Given the description of an element on the screen output the (x, y) to click on. 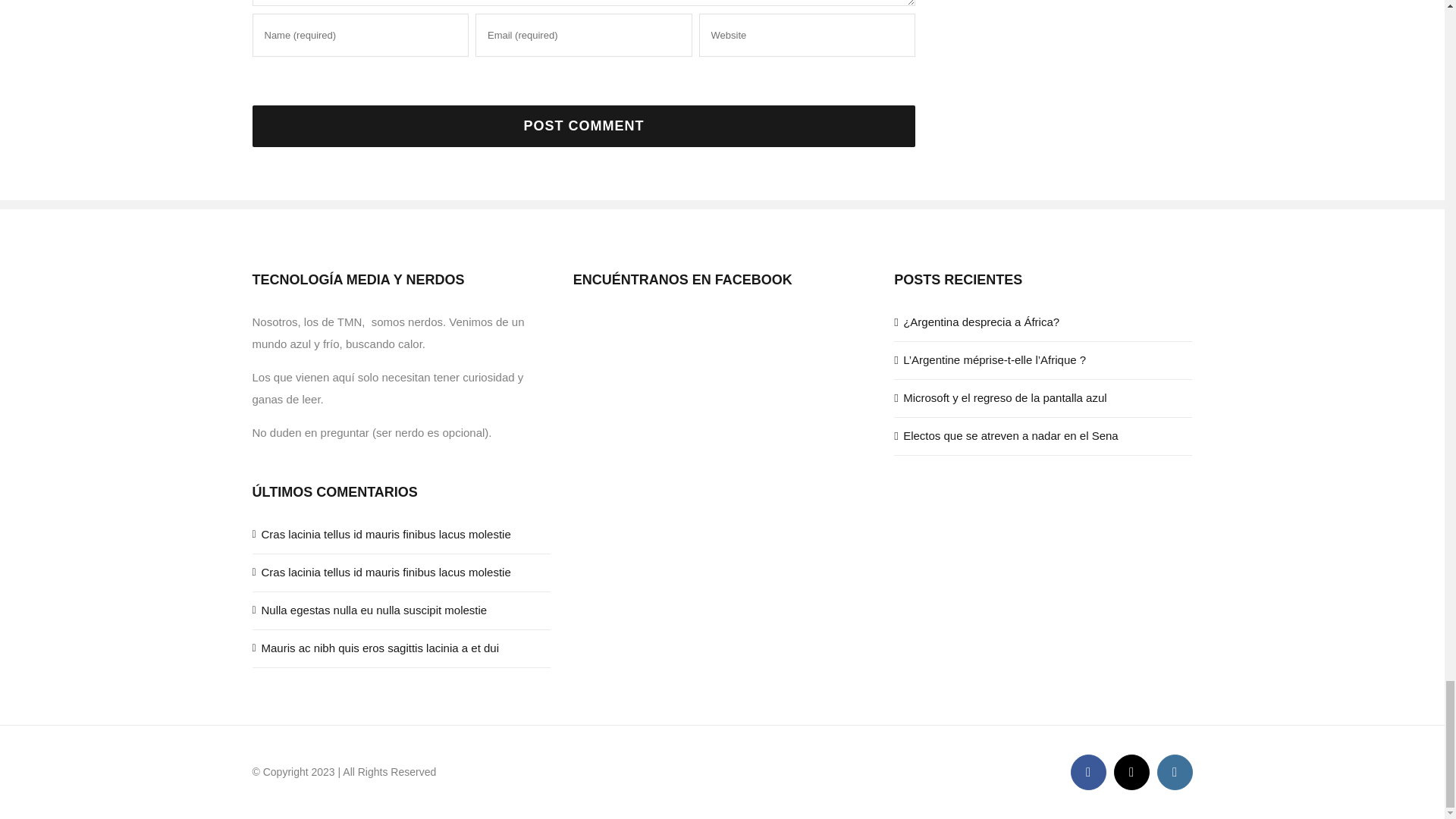
Post Comment (583, 126)
